Given the description of an element on the screen output the (x, y) to click on. 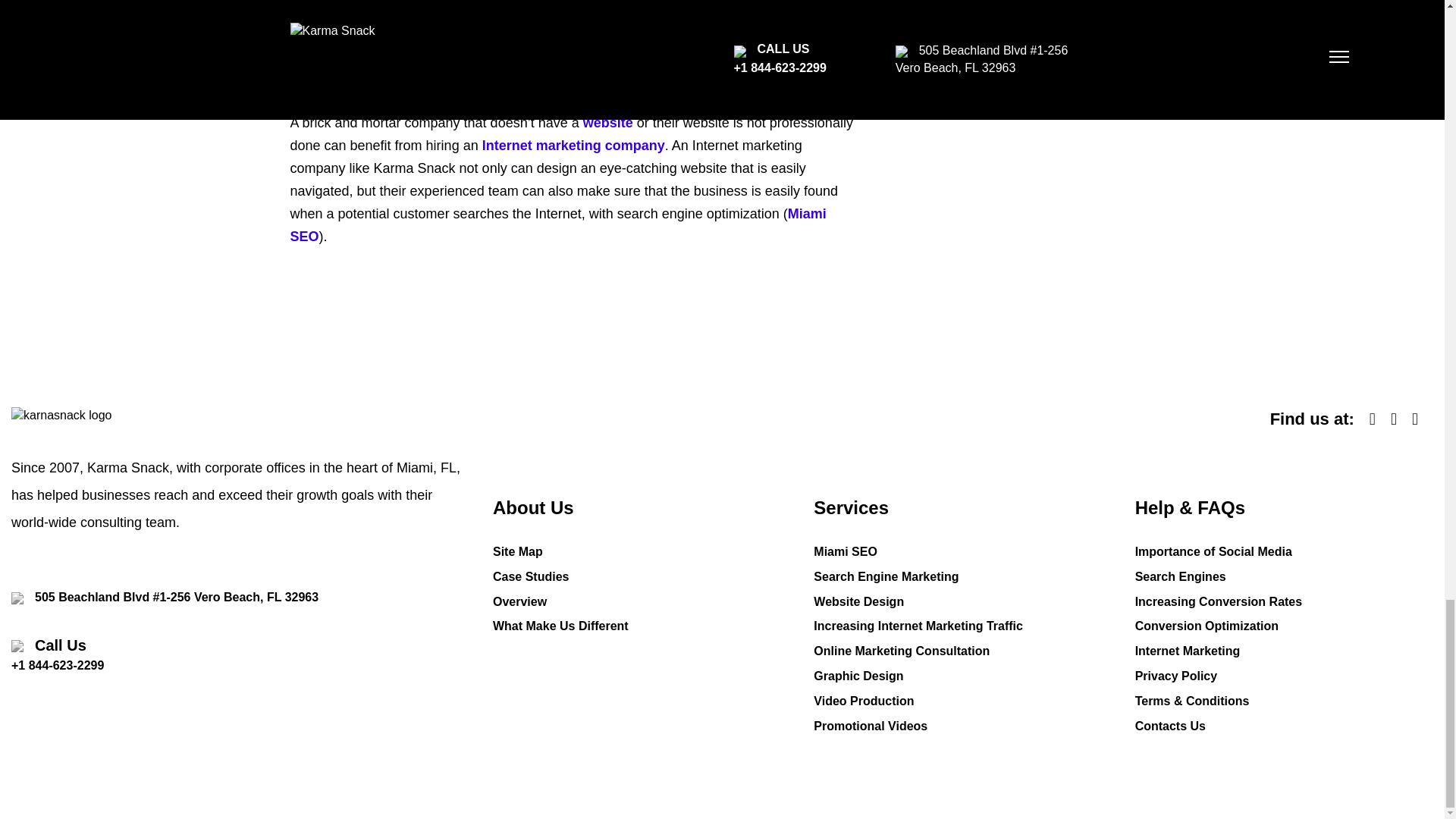
website (608, 122)
Miami SEO (557, 225)
Internet marketing company (573, 145)
